Given the description of an element on the screen output the (x, y) to click on. 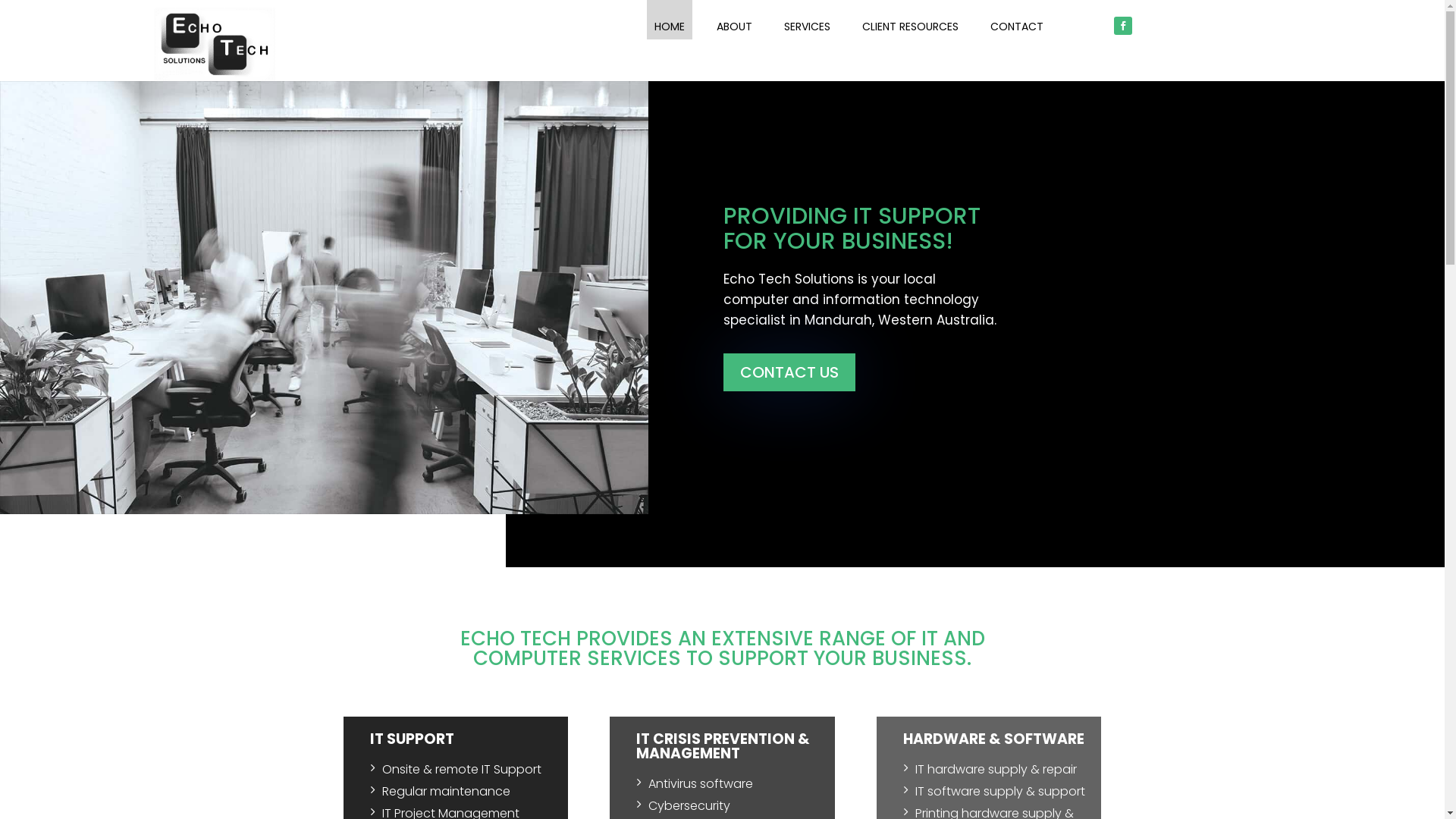
IT Support Mandurah | IT Company Mandurah & Peel Region WA Element type: hover (213, 44)
Follow on Facebook Element type: hover (1122, 25)
CONTACT US Element type: text (789, 372)
